Given the description of an element on the screen output the (x, y) to click on. 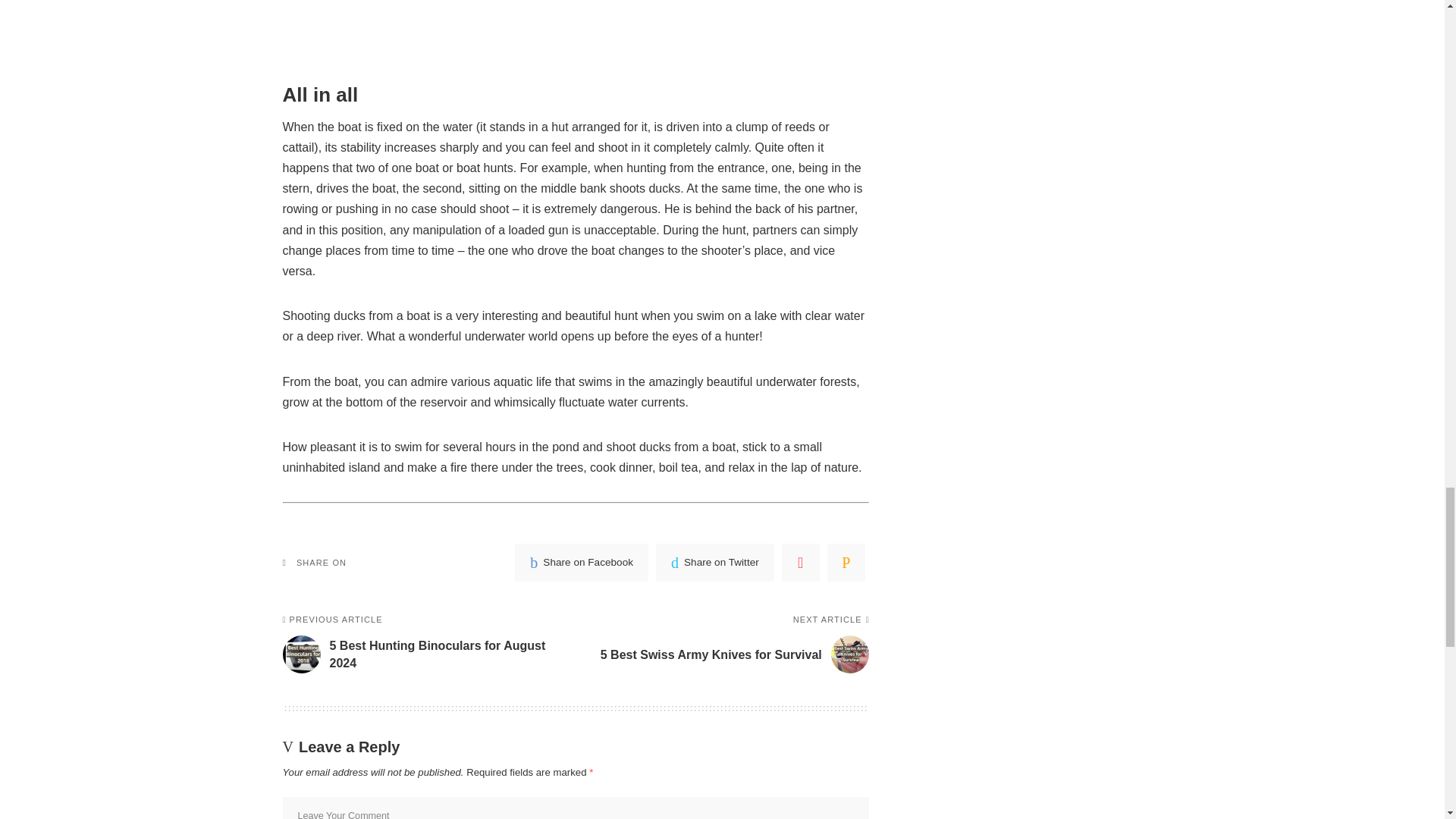
Share on Twitter (715, 562)
Share on Facebook (421, 644)
